Given the description of an element on the screen output the (x, y) to click on. 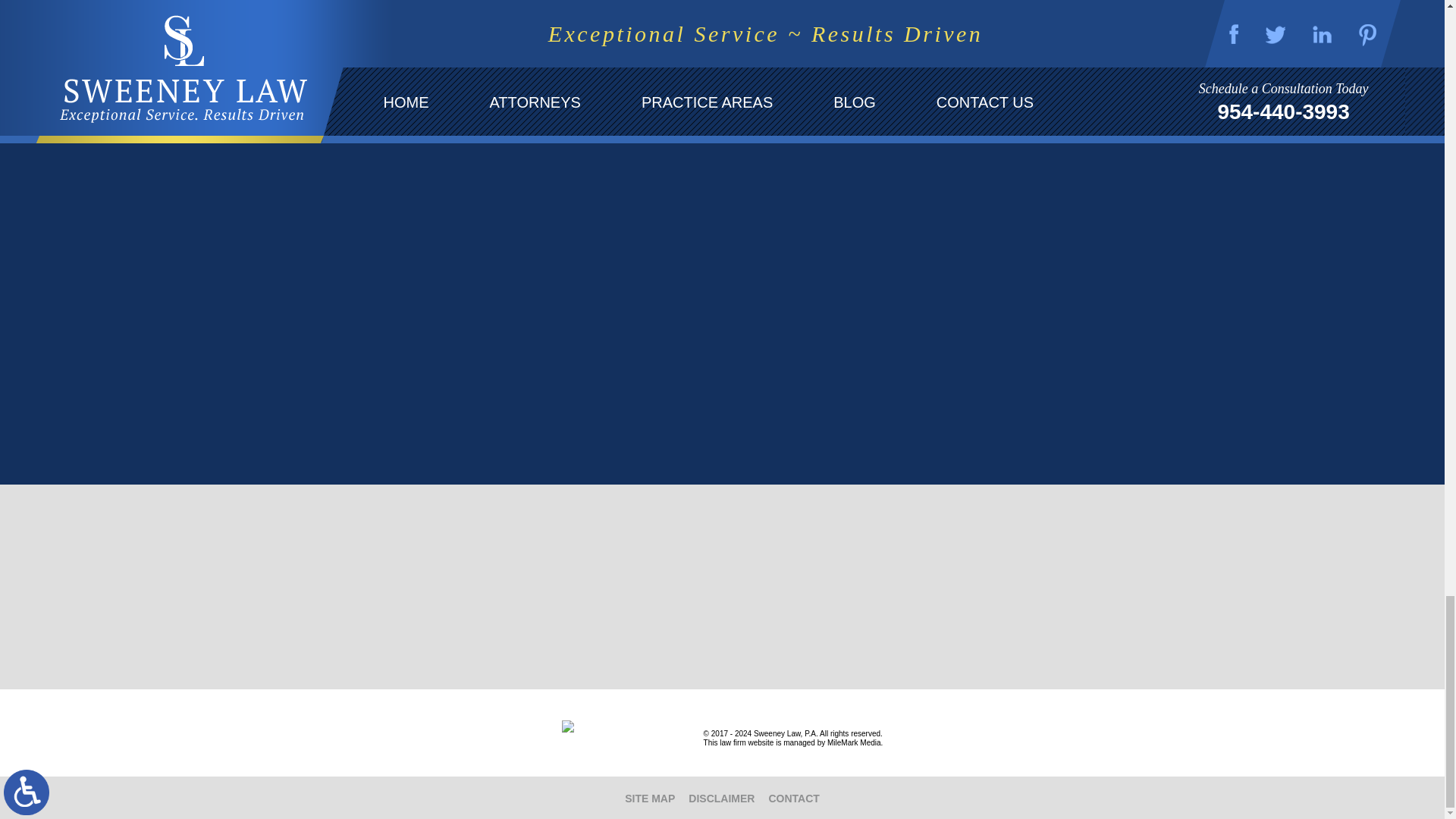
next (1295, 11)
previous (1284, 11)
